Given the description of an element on the screen output the (x, y) to click on. 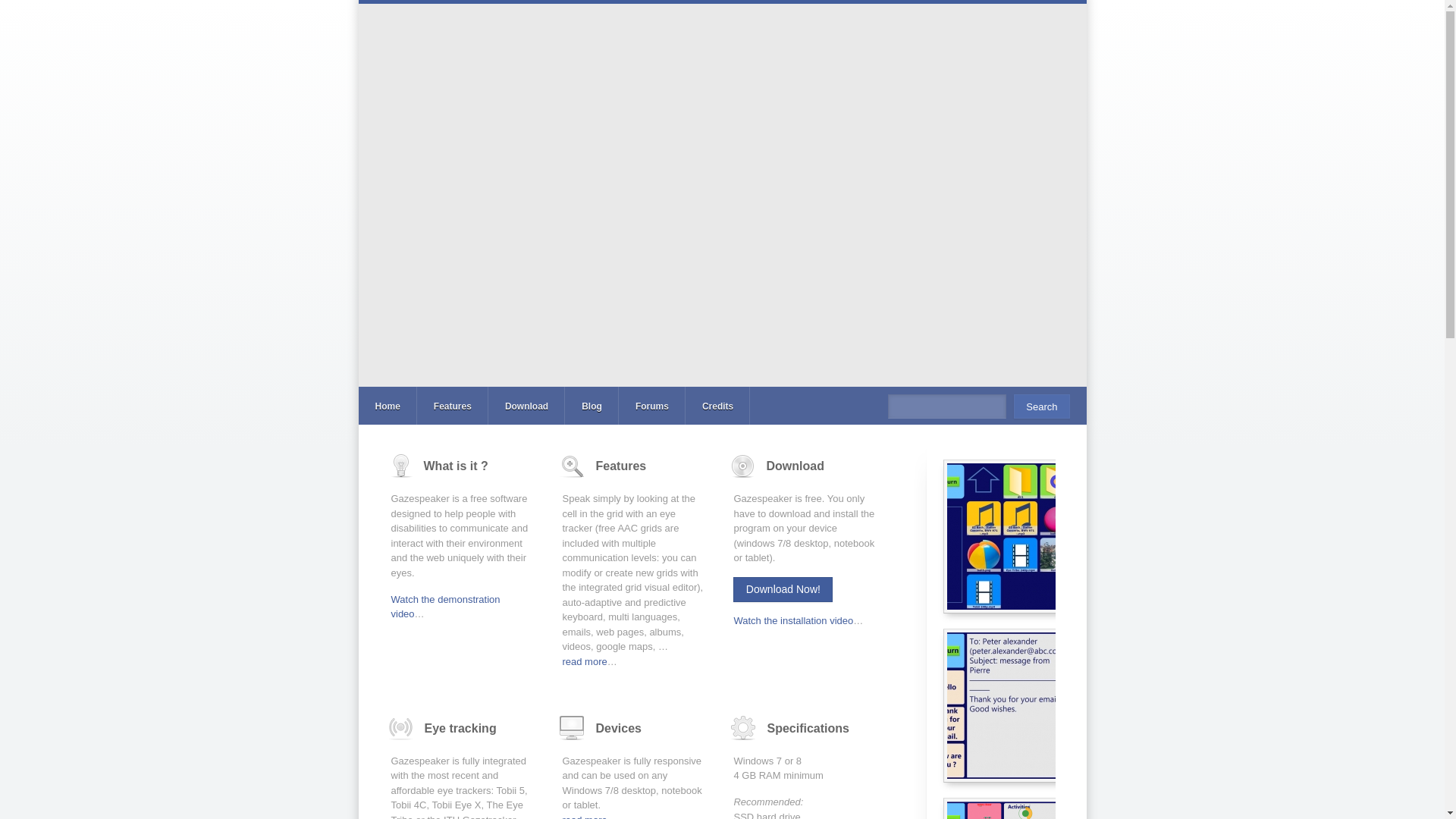
Watch the installation video (793, 620)
2.4 AAC grids with 28 cells (1056, 808)
Watch the demonstration video (445, 606)
4.2 Write emails with your eyes (1056, 705)
Watch the demonstration video on YouTube (445, 606)
Features (451, 405)
more devices (584, 816)
Search (1040, 405)
Credits (717, 405)
5.1 File explorer (1056, 536)
read more (584, 816)
read more (584, 660)
Search (1040, 405)
Home (387, 405)
see the demo on Youtube (793, 620)
